Given the description of an element on the screen output the (x, y) to click on. 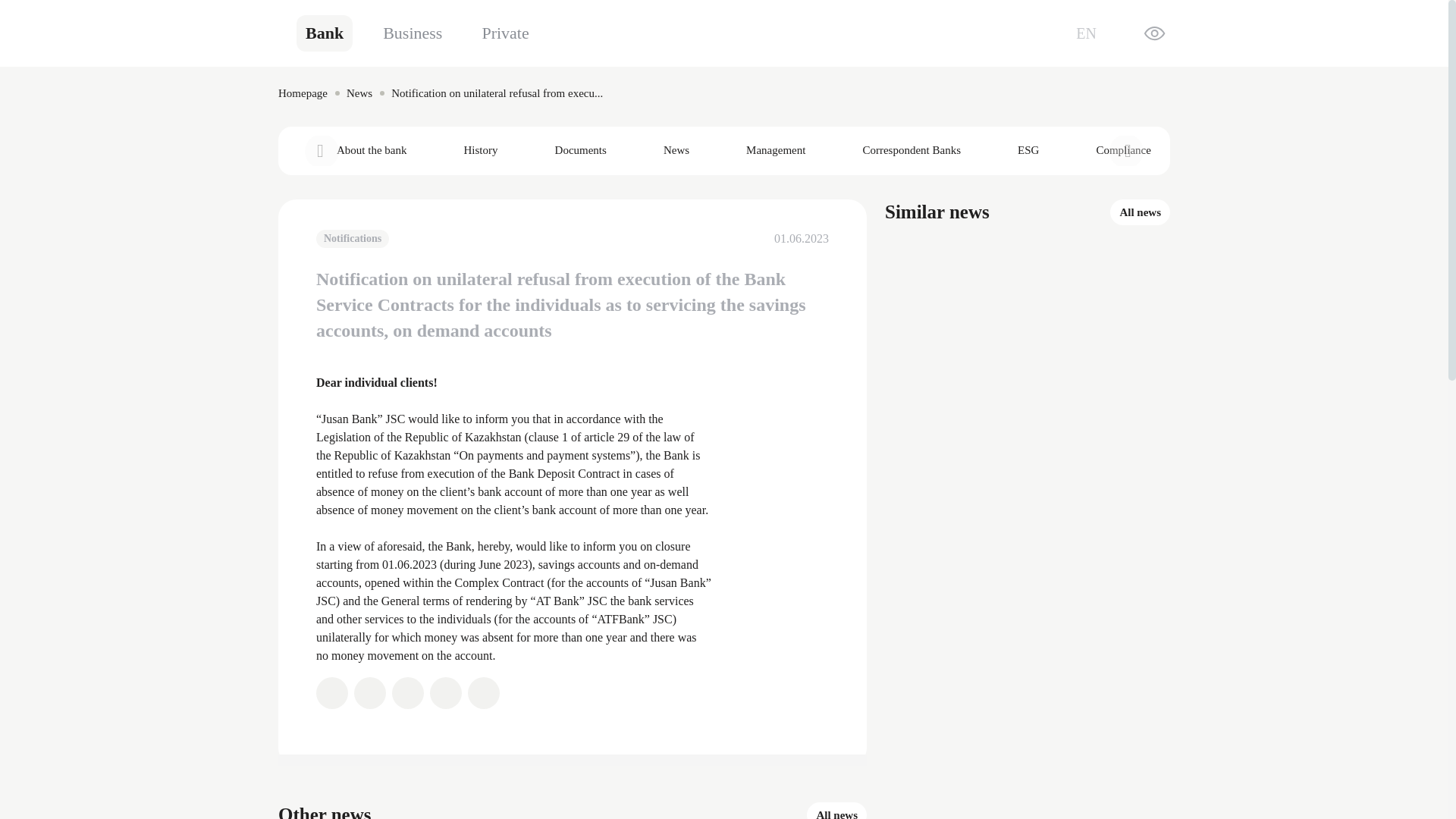
Bank (324, 33)
Private (504, 33)
Business (412, 33)
For the visually impaired (1154, 33)
